Given the description of an element on the screen output the (x, y) to click on. 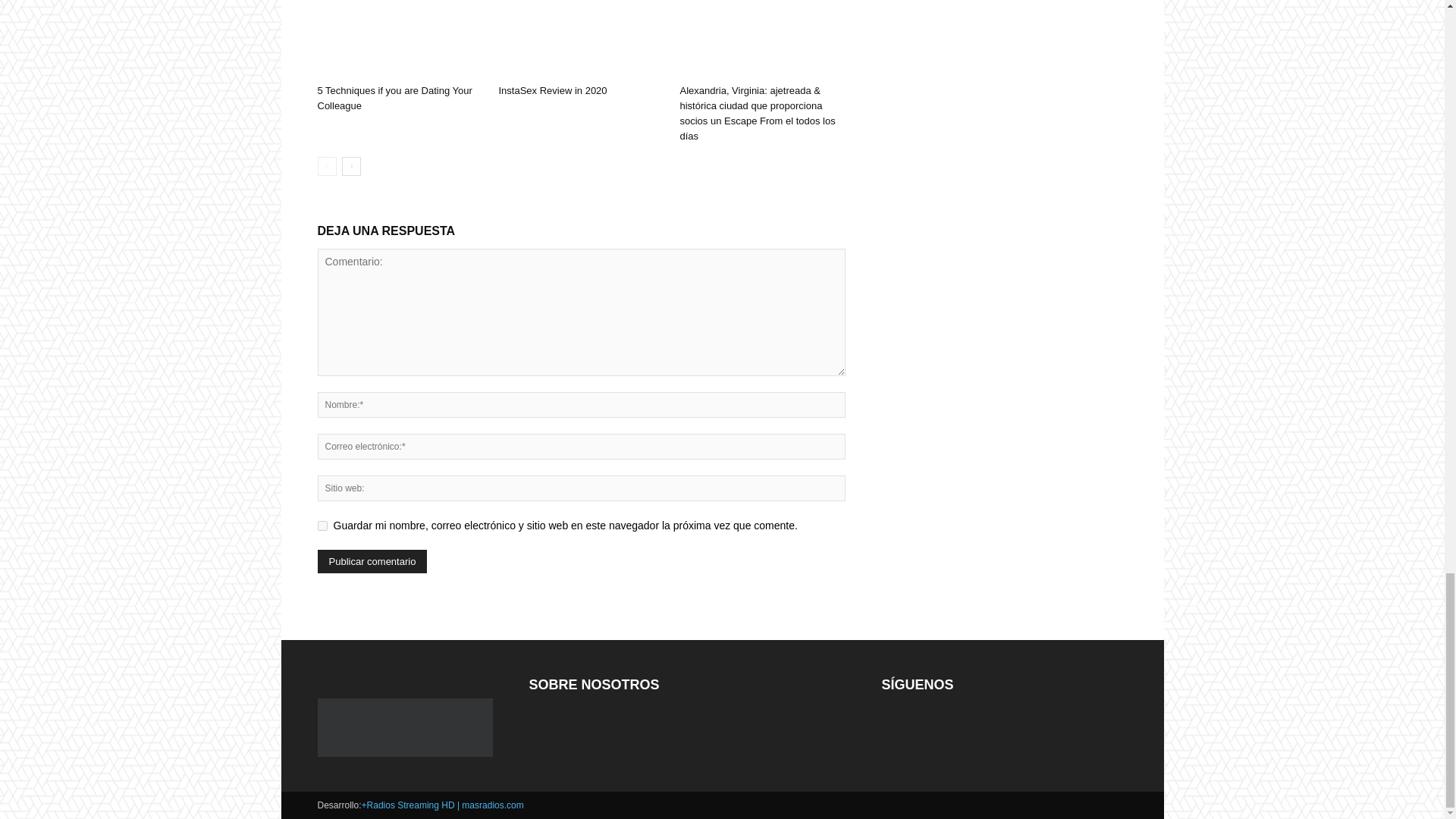
yes (321, 525)
Publicar comentario (371, 561)
